Given the description of an element on the screen output the (x, y) to click on. 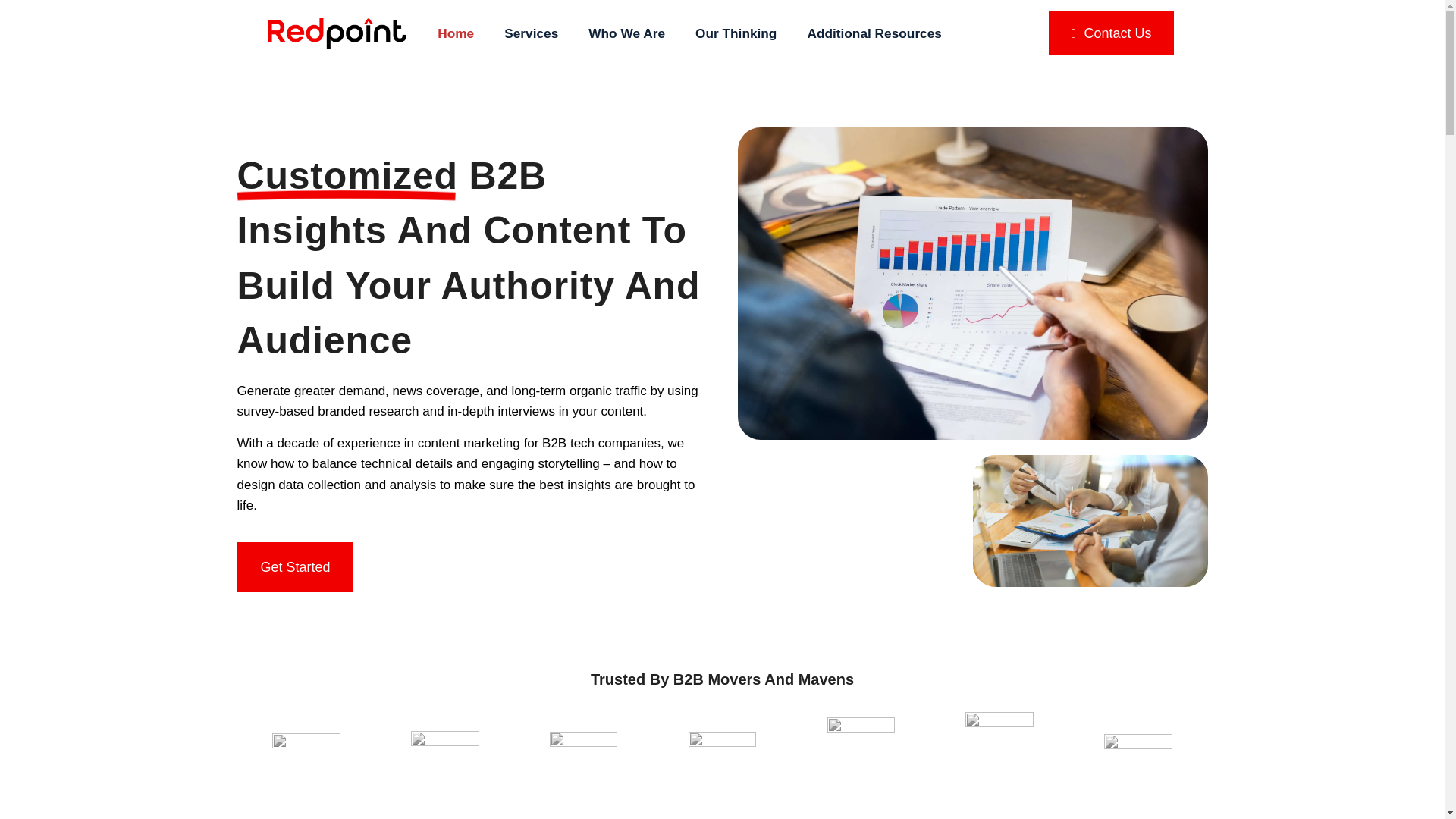
Contact Us (1110, 33)
Our Thinking (735, 32)
Services (531, 32)
Additional Resources (874, 32)
Home (455, 32)
Who We Are (626, 32)
